Given the description of an element on the screen output the (x, y) to click on. 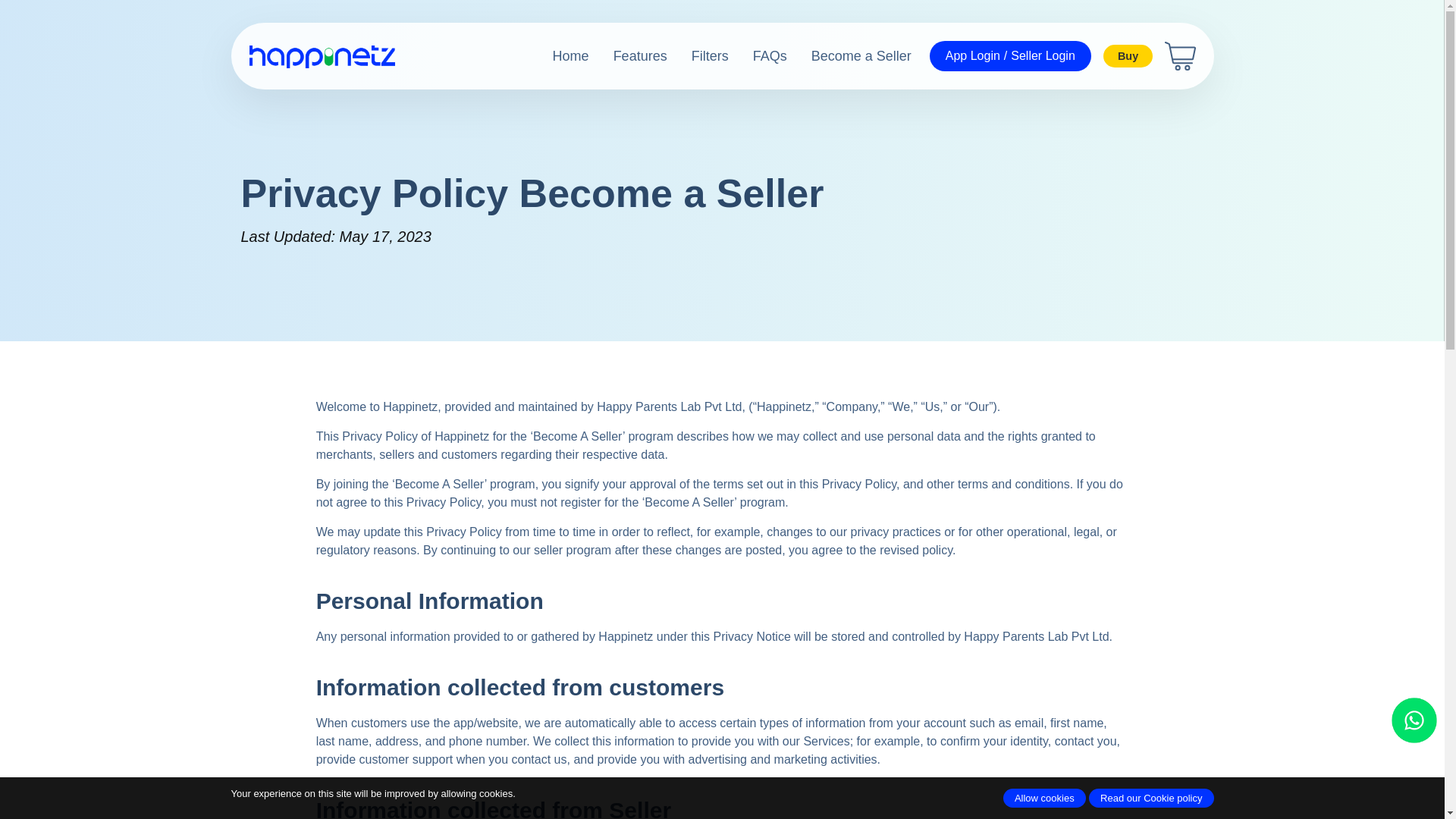
Become a Seller (849, 55)
FAQs (758, 55)
App Login (973, 55)
Seller Login (1042, 55)
Buy (1128, 56)
Features (627, 55)
Filters (697, 55)
Home (558, 55)
